Given the description of an element on the screen output the (x, y) to click on. 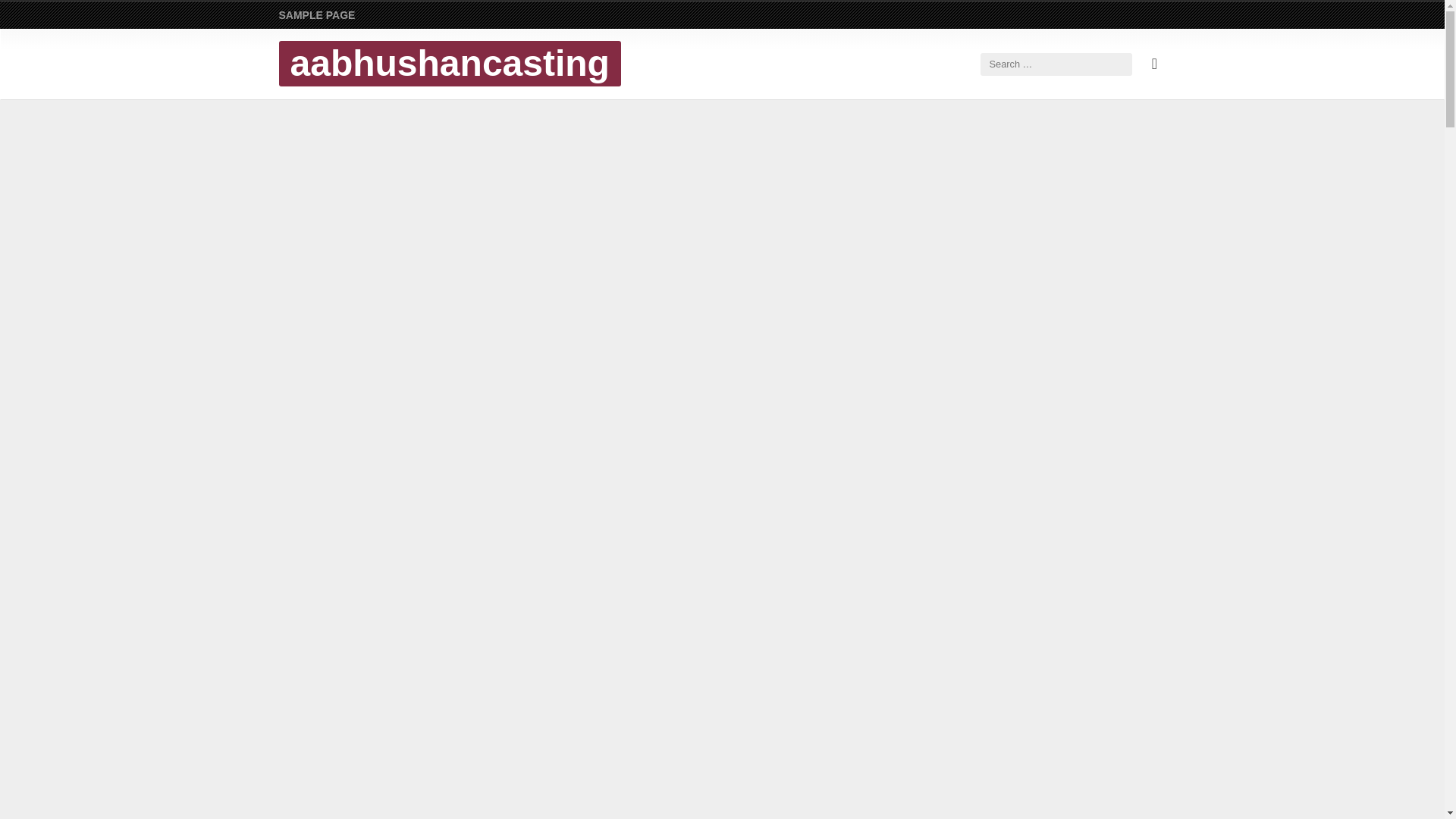
aabhushancasting (448, 63)
SAMPLE PAGE (317, 14)
Search (37, 17)
RSS (1154, 63)
